Given the description of an element on the screen output the (x, y) to click on. 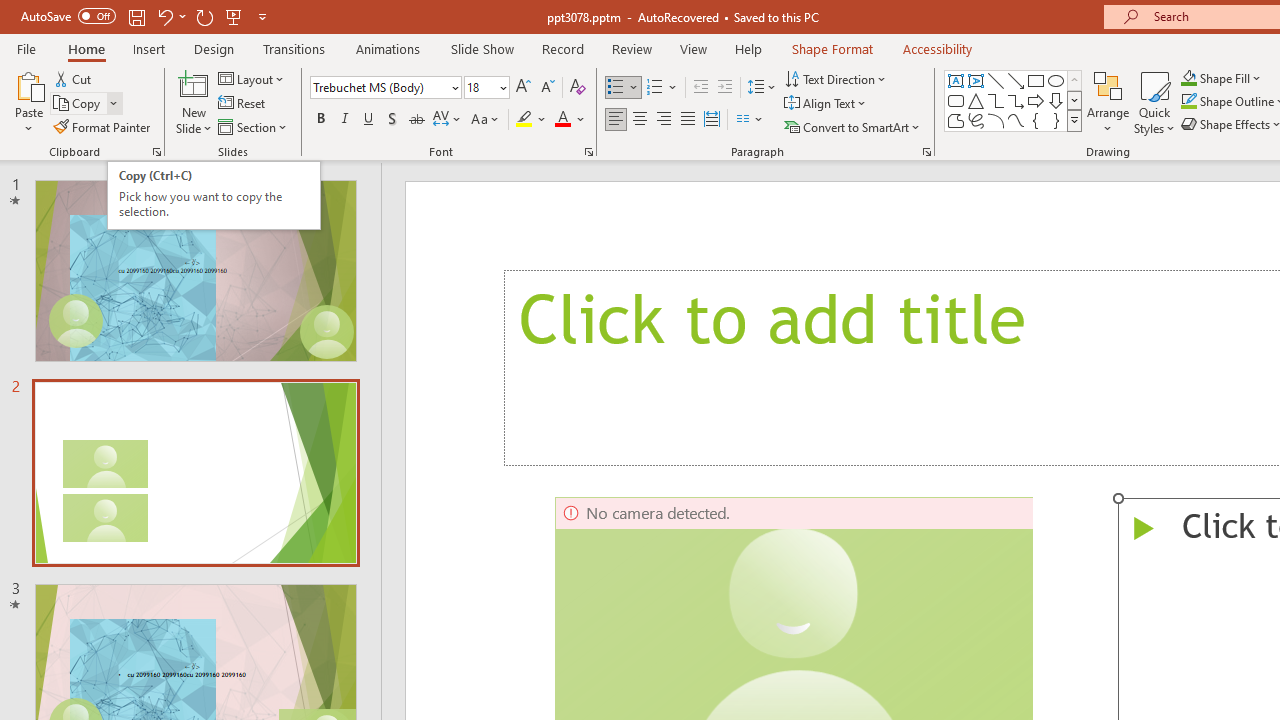
Shape Fill Dark Green, Accent 2 (1188, 78)
